Given the description of an element on the screen output the (x, y) to click on. 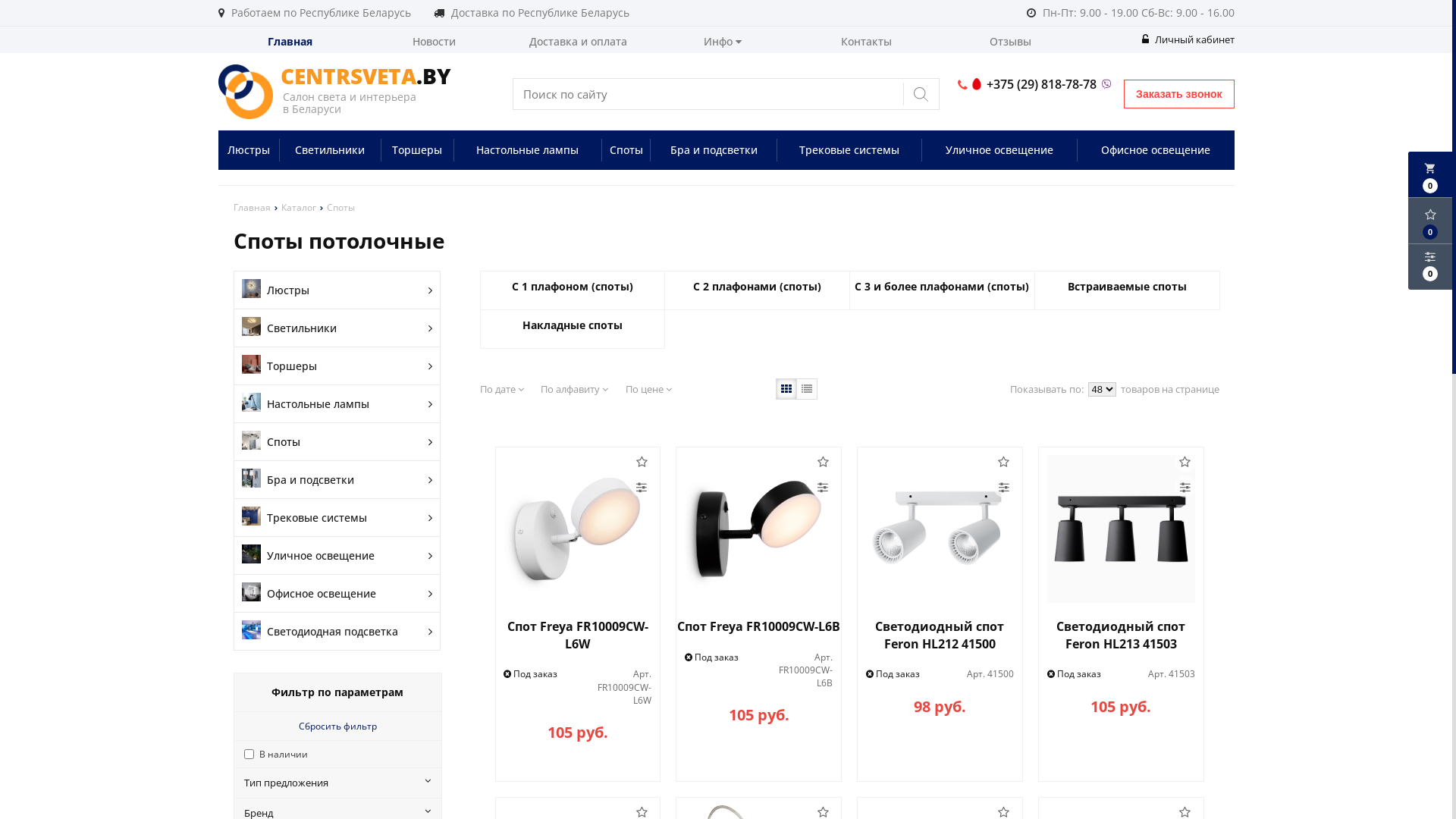
0 Element type: text (1430, 266)
search Element type: text (921, 93)
0 Element type: text (1430, 220)
local_grocery_store
0 Element type: text (1430, 174)
+375 (29) 818-78-78 Element type: text (1036, 84)
